Given the description of an element on the screen output the (x, y) to click on. 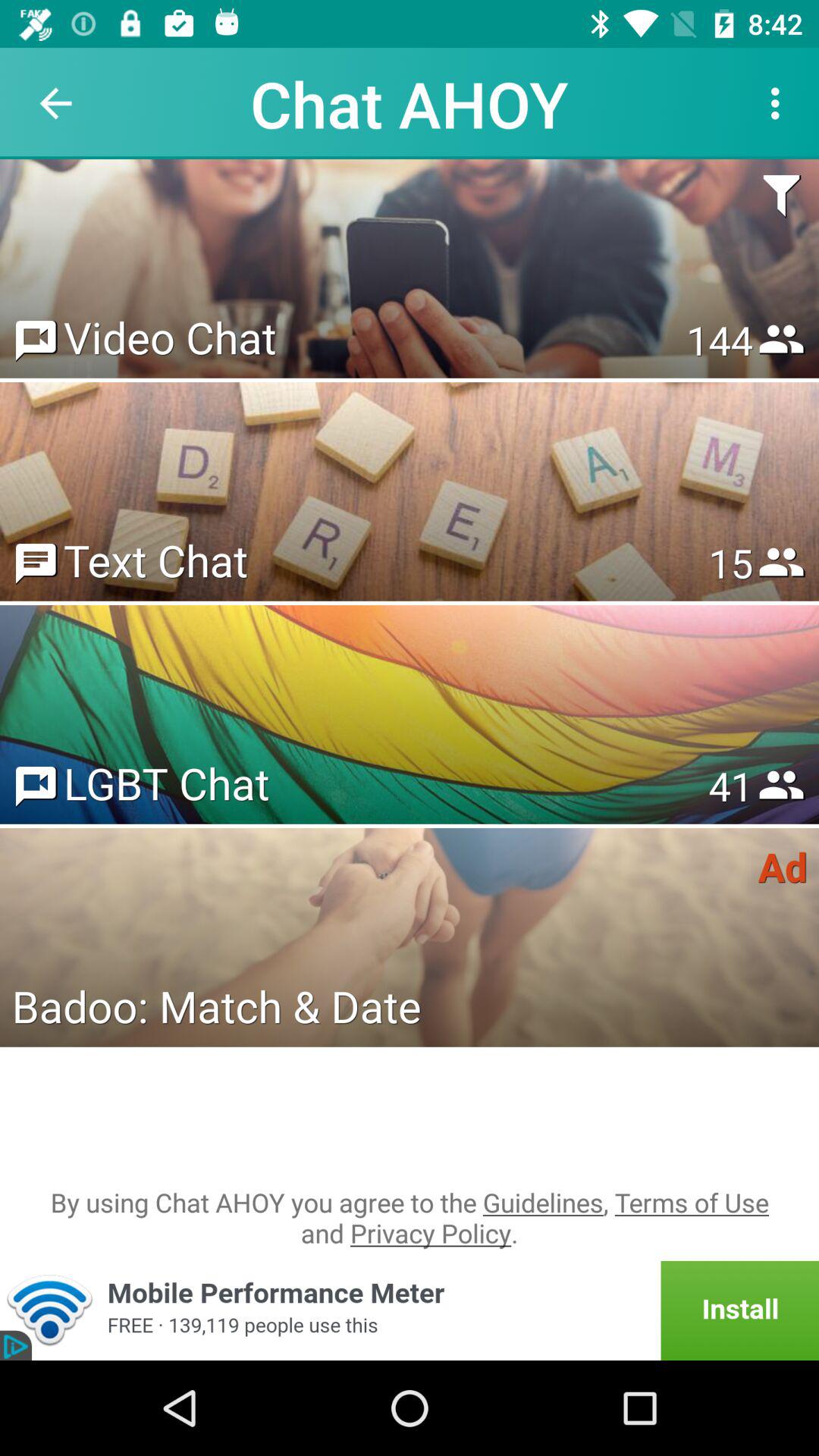
jump until 15 (730, 562)
